Given the description of an element on the screen output the (x, y) to click on. 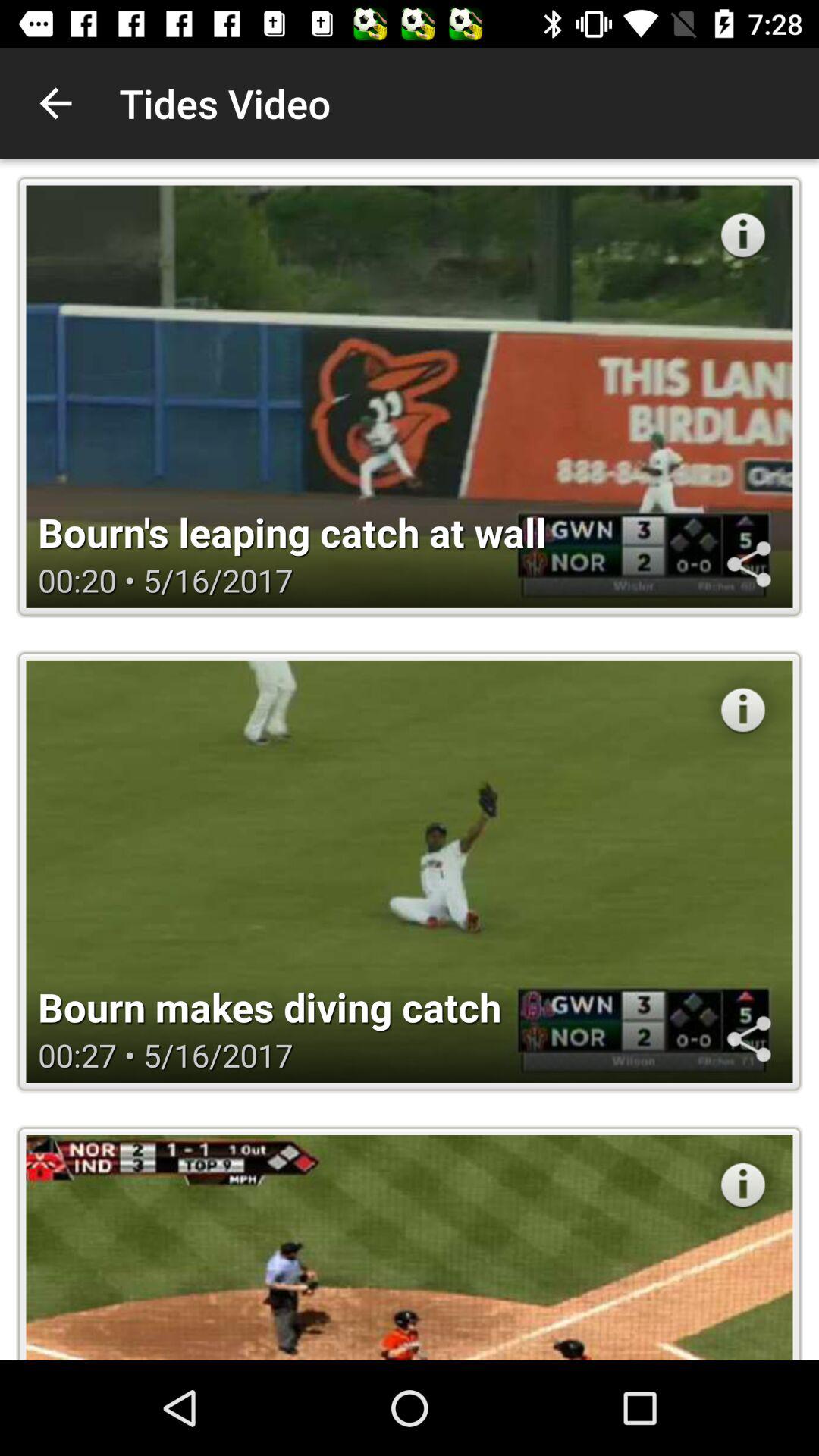
share (748, 1038)
